Given the description of an element on the screen output the (x, y) to click on. 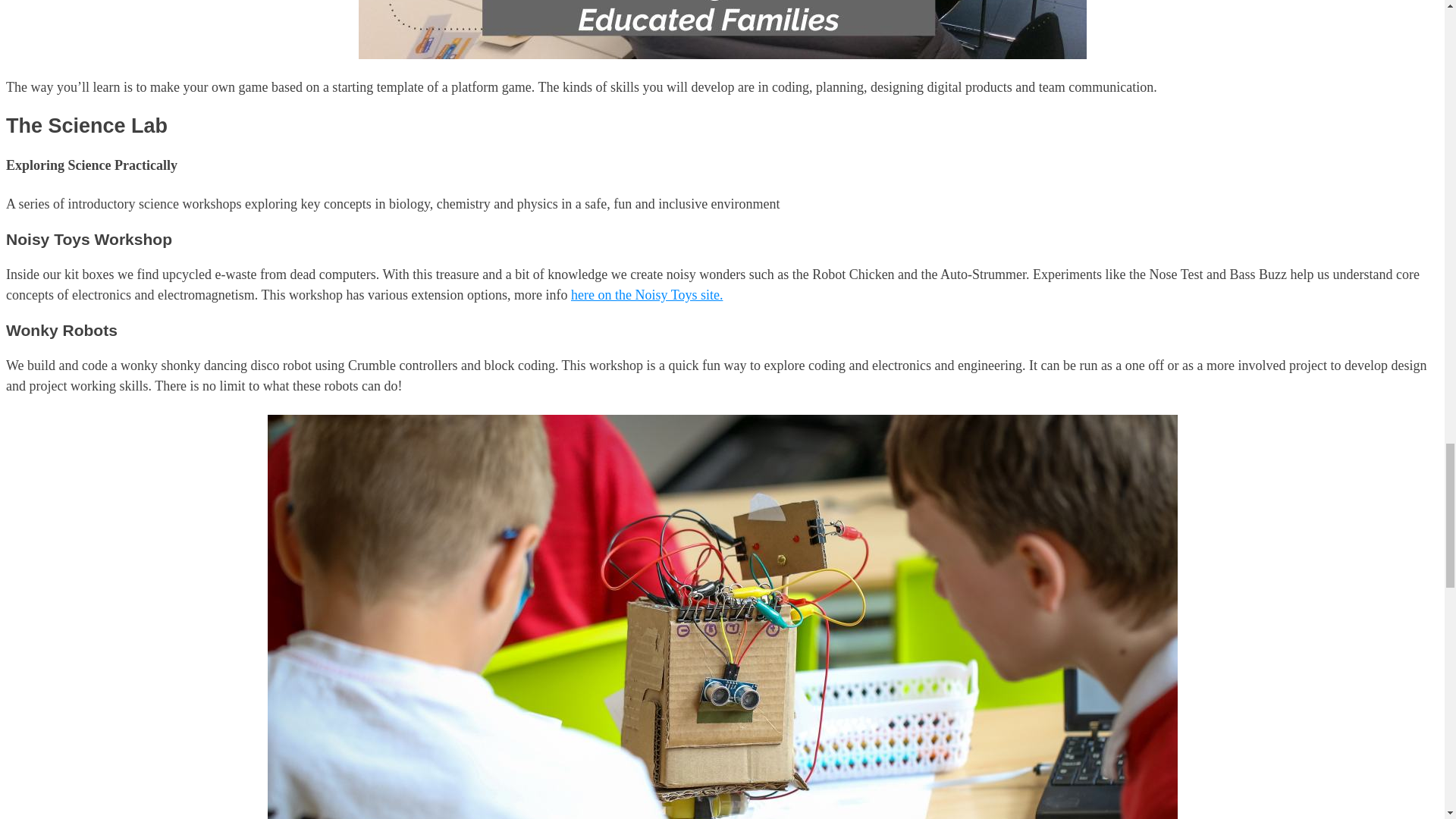
here on the Noisy Toys site. (646, 294)
